Given the description of an element on the screen output the (x, y) to click on. 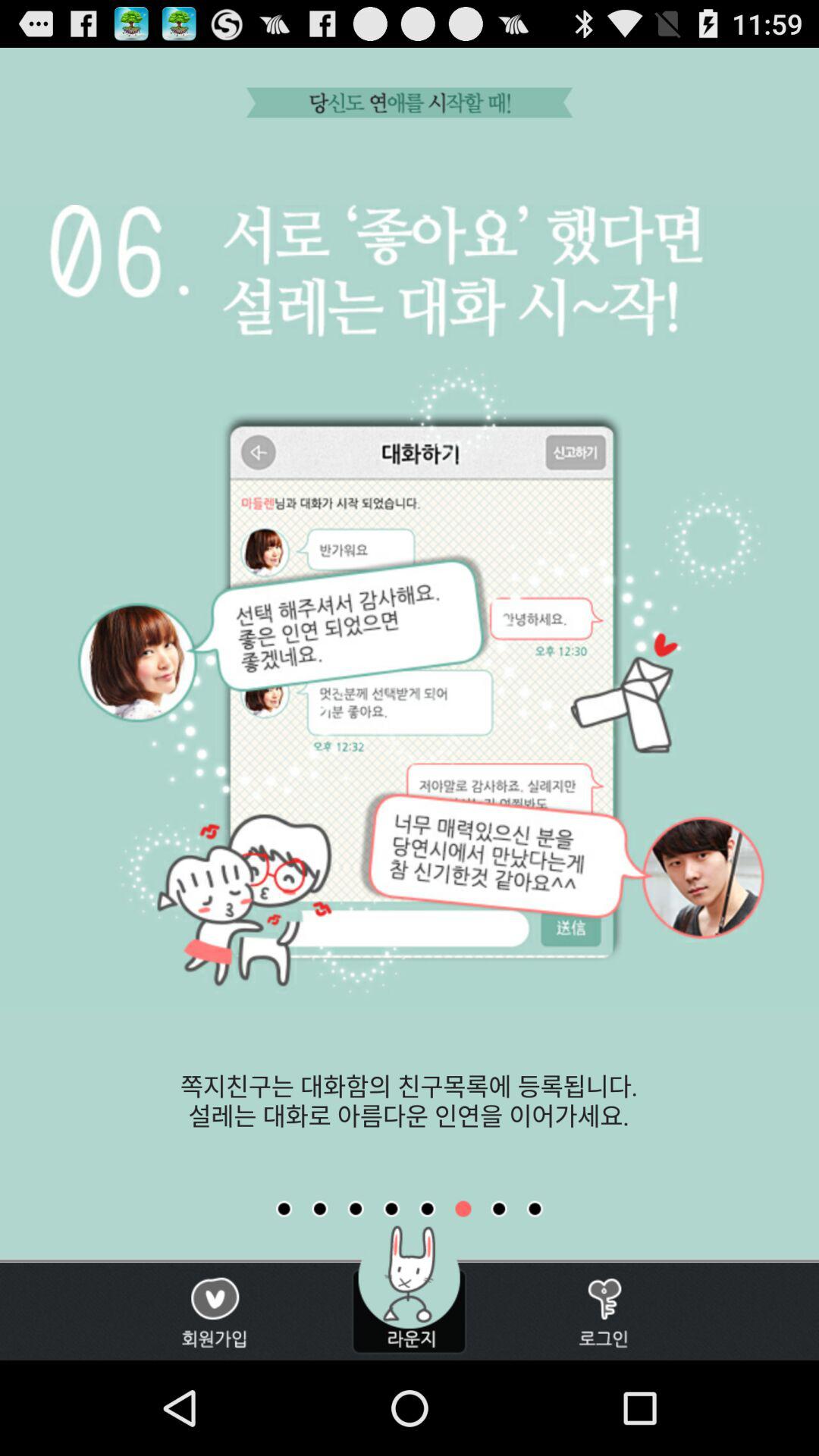
toggle autoplay option (284, 1208)
